Given the description of an element on the screen output the (x, y) to click on. 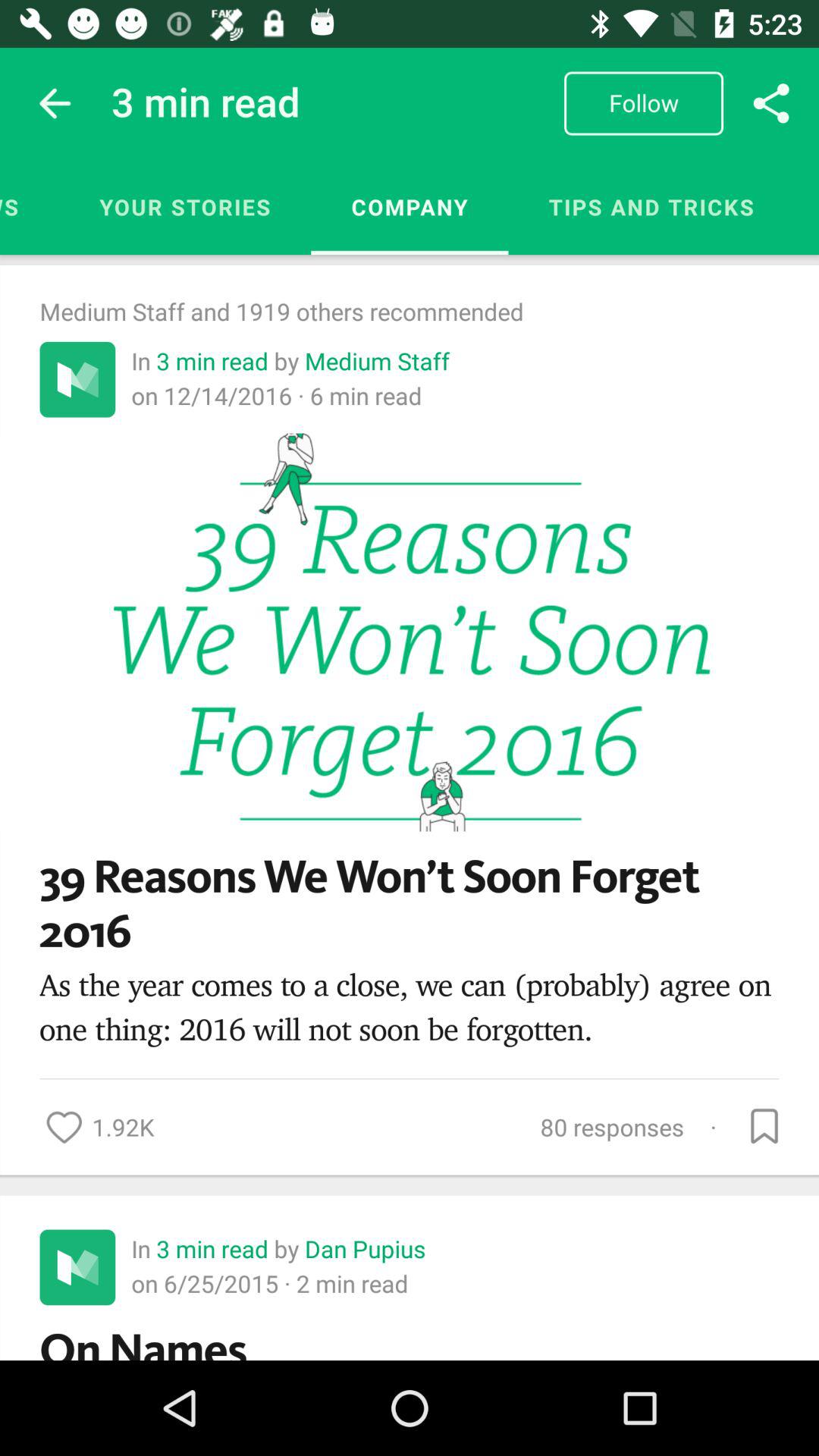
the share icon positioned at the top right corner (771, 103)
click the text left to share icon at right top of the page (643, 103)
select the green icon which is at the bottom left corner of the page (77, 1267)
click on dan pupius (364, 1248)
